Given the description of an element on the screen output the (x, y) to click on. 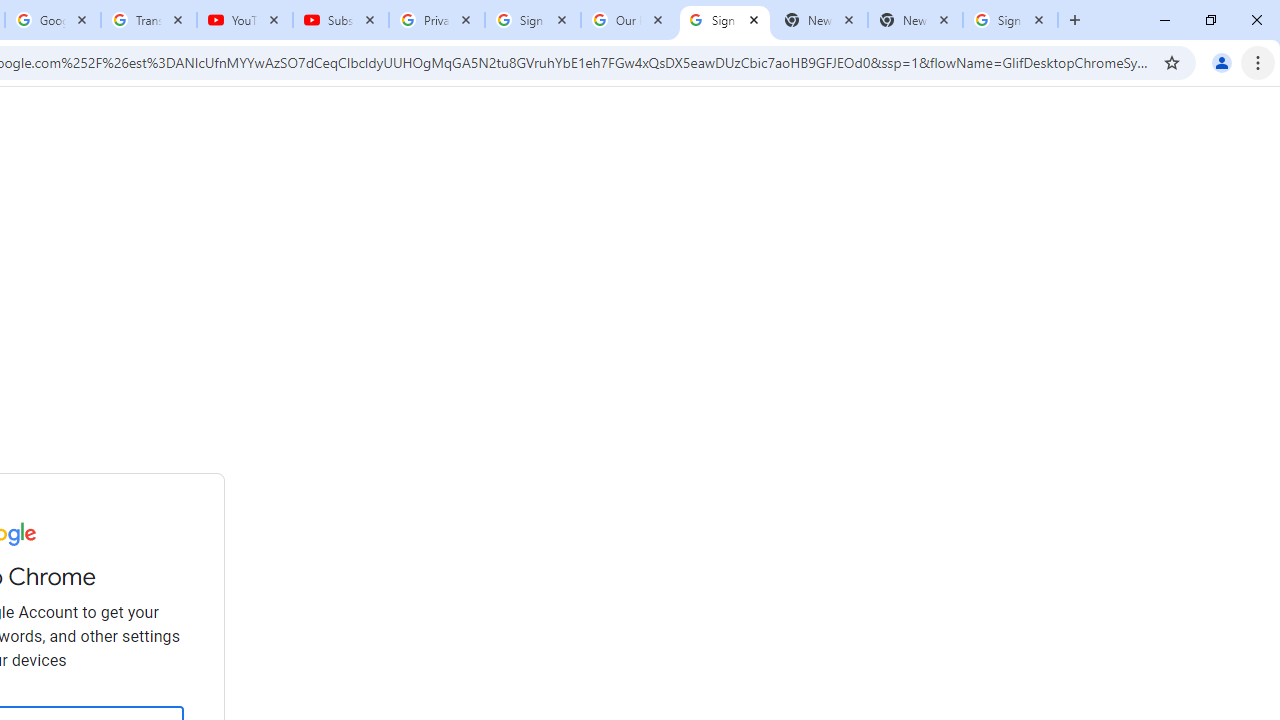
Sign in - Google Accounts (725, 20)
Sign in - Google Accounts (533, 20)
New Tab (914, 20)
Subscriptions - YouTube (341, 20)
YouTube (245, 20)
Sign in - Google Accounts (1010, 20)
